Given the description of an element on the screen output the (x, y) to click on. 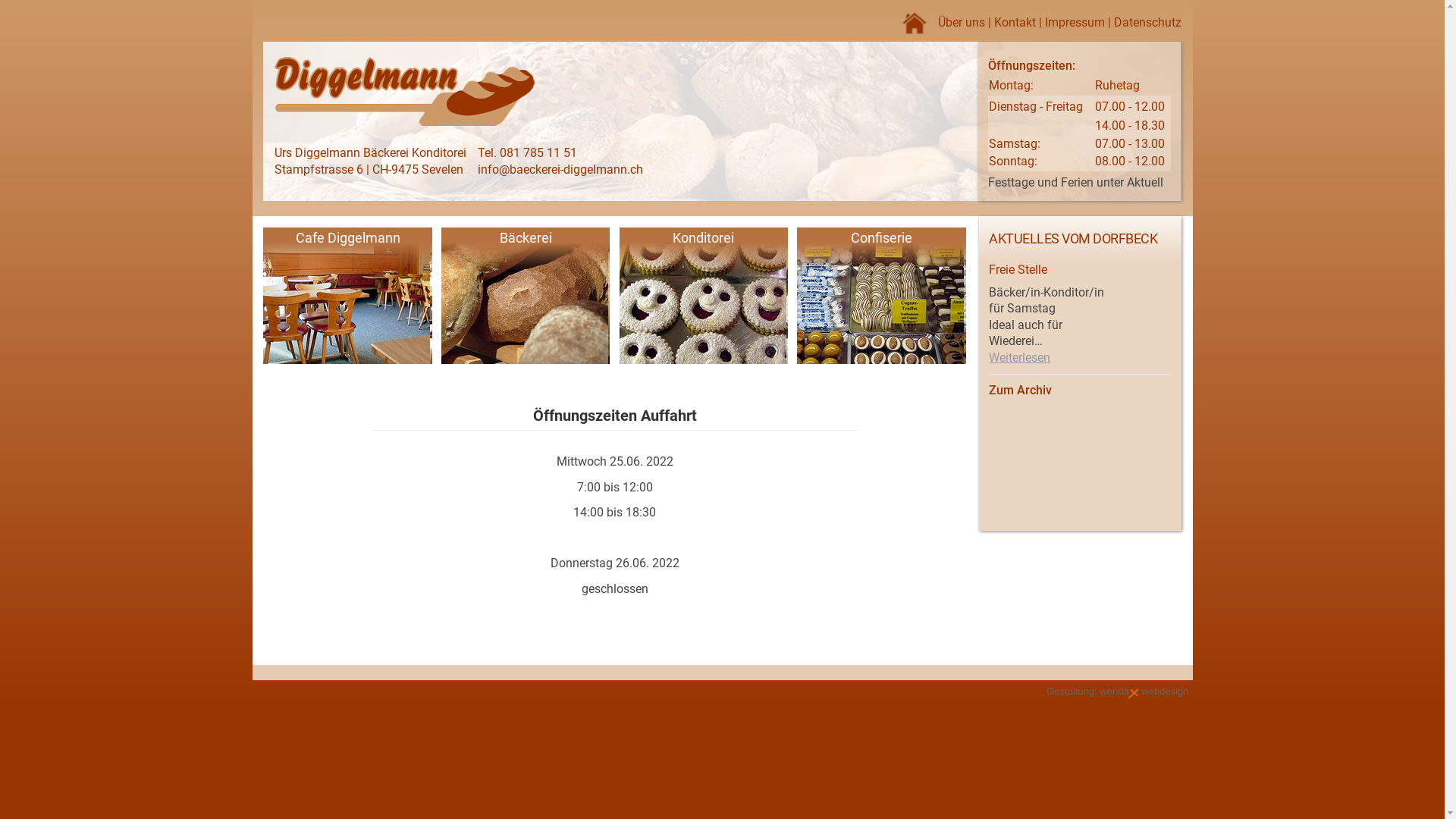
Konditorei Element type: text (703, 296)
Impressum Element type: text (1074, 22)
Kontakt Element type: text (1014, 22)
Zum Archiv Element type: text (1019, 389)
Freie Stelle Element type: text (1017, 269)
Gestaltung: wenda webdesign Element type: text (1117, 690)
Confiserie Element type: text (881, 296)
081 785 11 51 Element type: text (538, 152)
Datenschutz Element type: text (1147, 22)
Weiterlesen Element type: text (1019, 357)
Cafe Diggelmann Element type: text (347, 296)
info@baeckerei-diggelmann.ch Element type: text (560, 169)
